Given the description of an element on the screen output the (x, y) to click on. 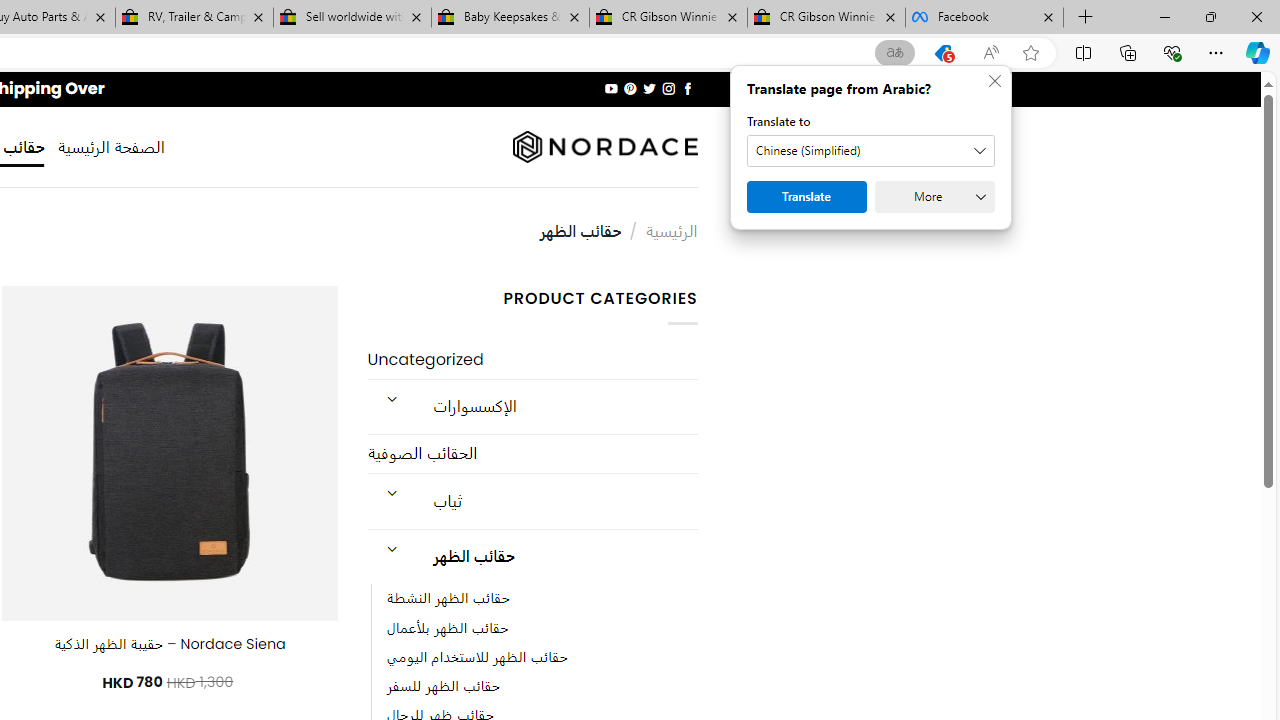
Facebook (984, 17)
Follow on Twitter (648, 88)
More (934, 196)
Follow on Facebook (686, 88)
Follow on Instagram (667, 88)
